Given the description of an element on the screen output the (x, y) to click on. 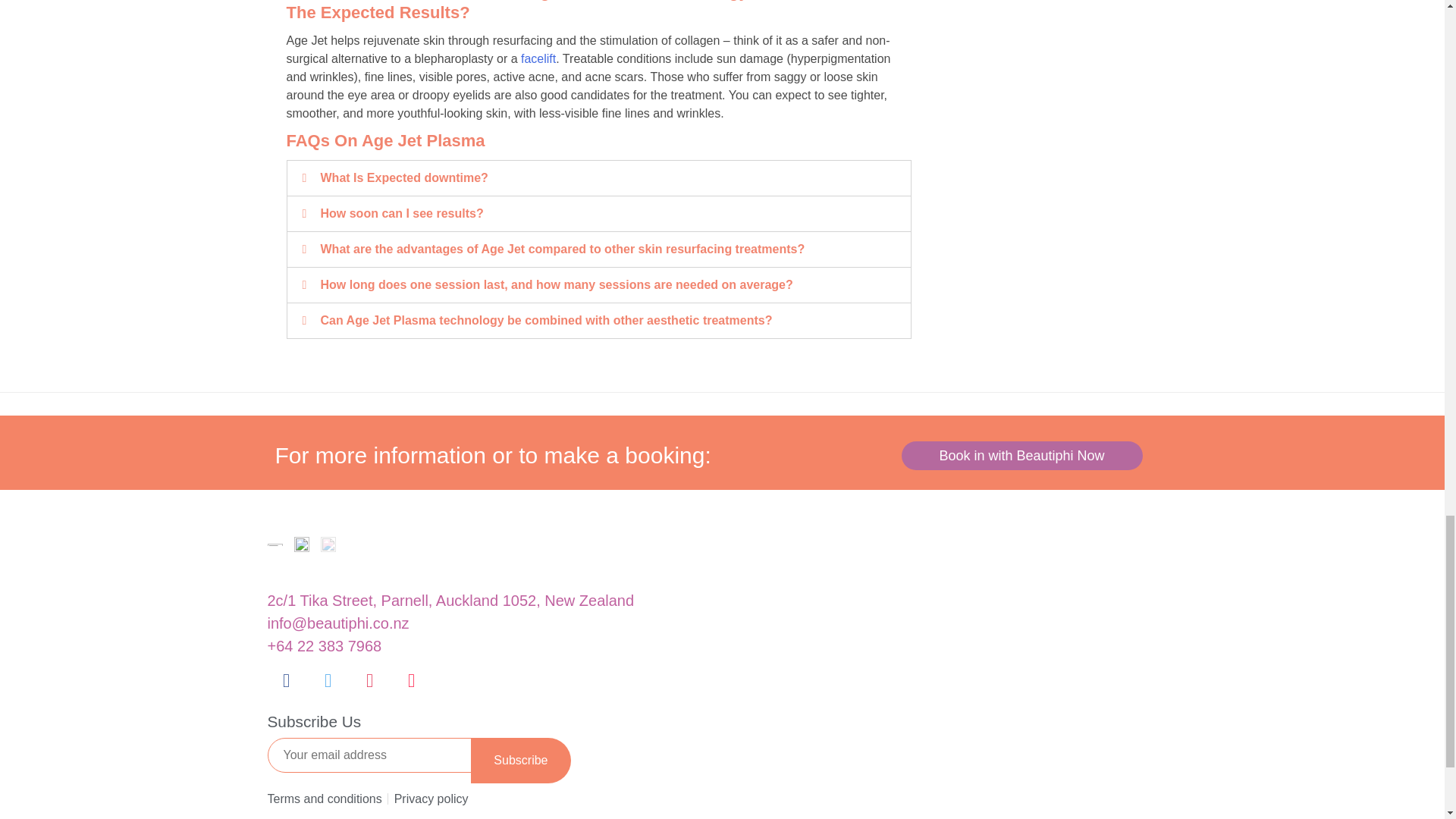
Subscribe (520, 759)
